Given the description of an element on the screen output the (x, y) to click on. 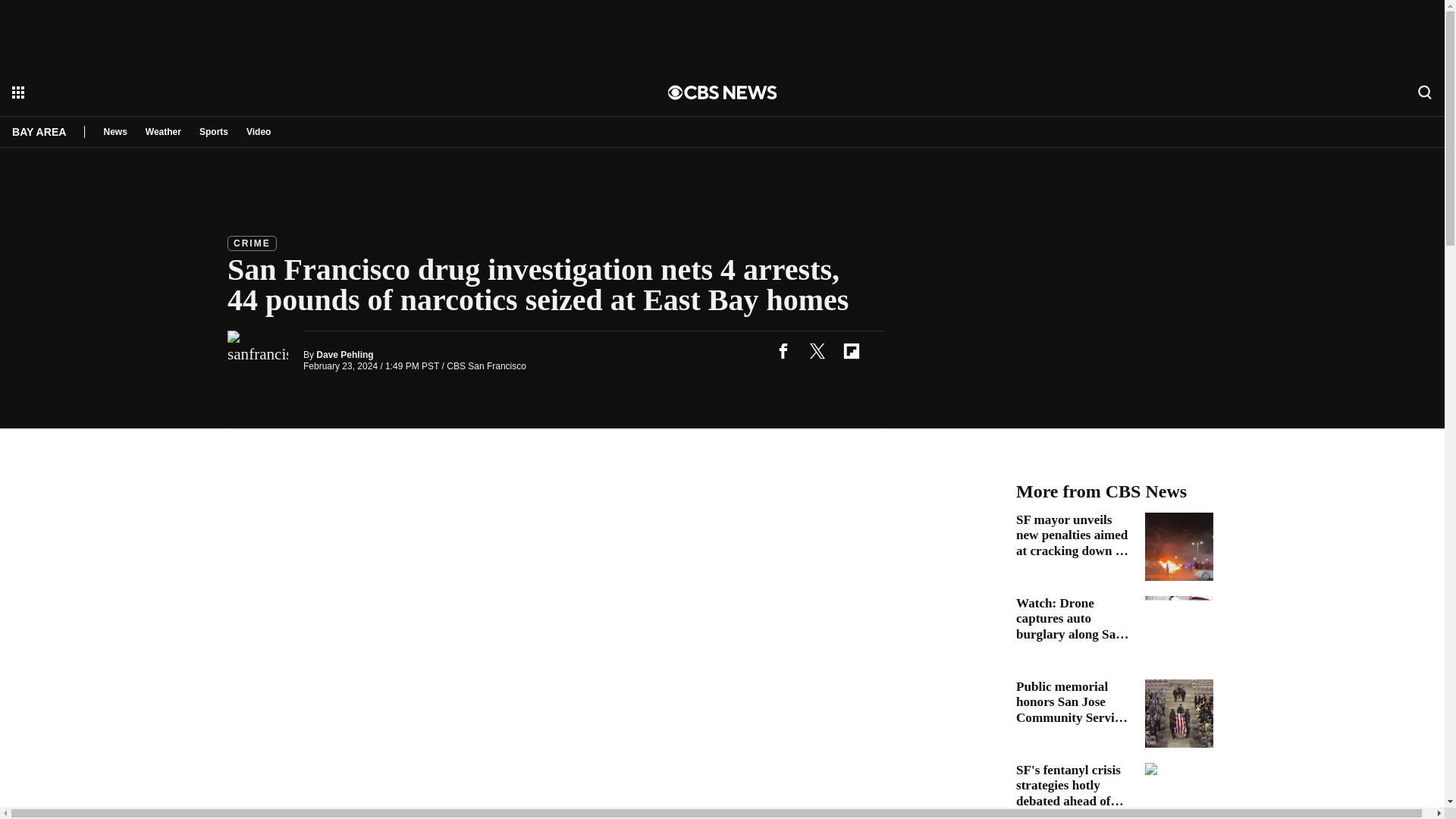
facebook (782, 350)
flipboard (850, 350)
twitter (816, 350)
